Given the description of an element on the screen output the (x, y) to click on. 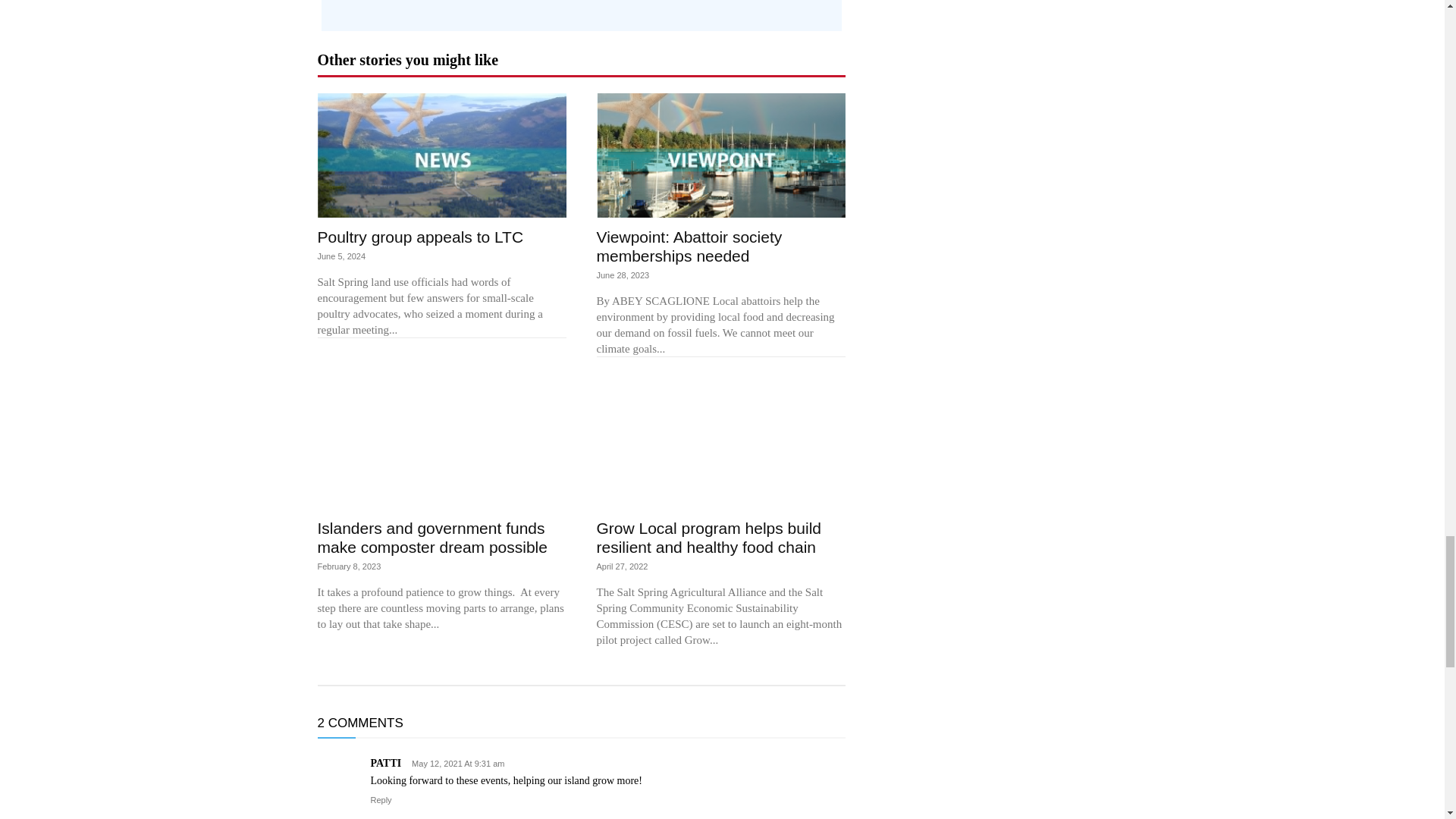
Islanders and government funds make composter dream possible (441, 446)
Viewpoint: Abattoir society memberships needed (719, 155)
Poultry group appeals to LTC (419, 236)
Viewpoint: Abattoir society memberships needed (688, 246)
Poultry group appeals to LTC (441, 155)
